Given the description of an element on the screen output the (x, y) to click on. 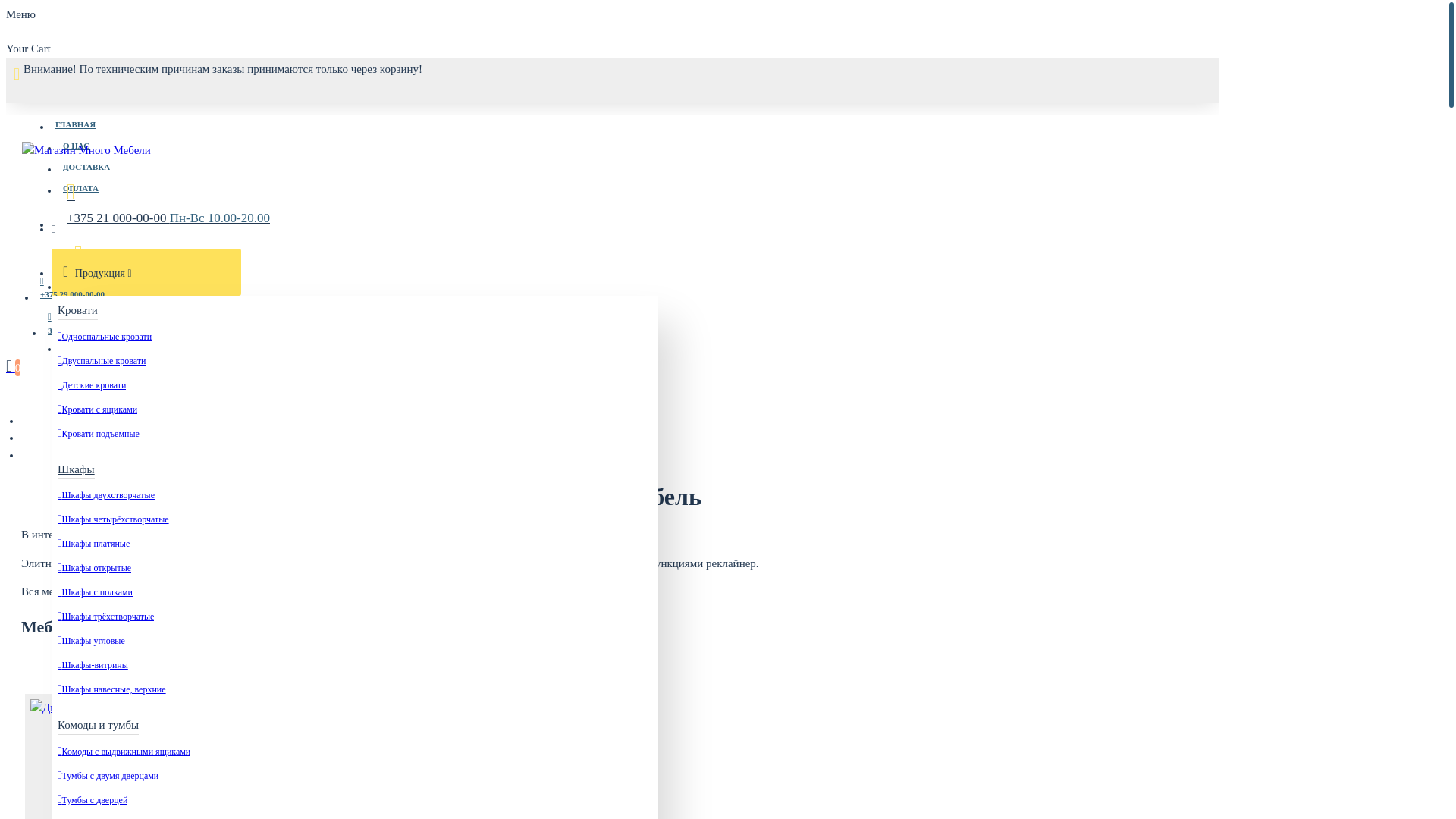
+375 29 000-00-00 Element type: text (72, 286)
0 Element type: text (21, 365)
